Given the description of an element on the screen output the (x, y) to click on. 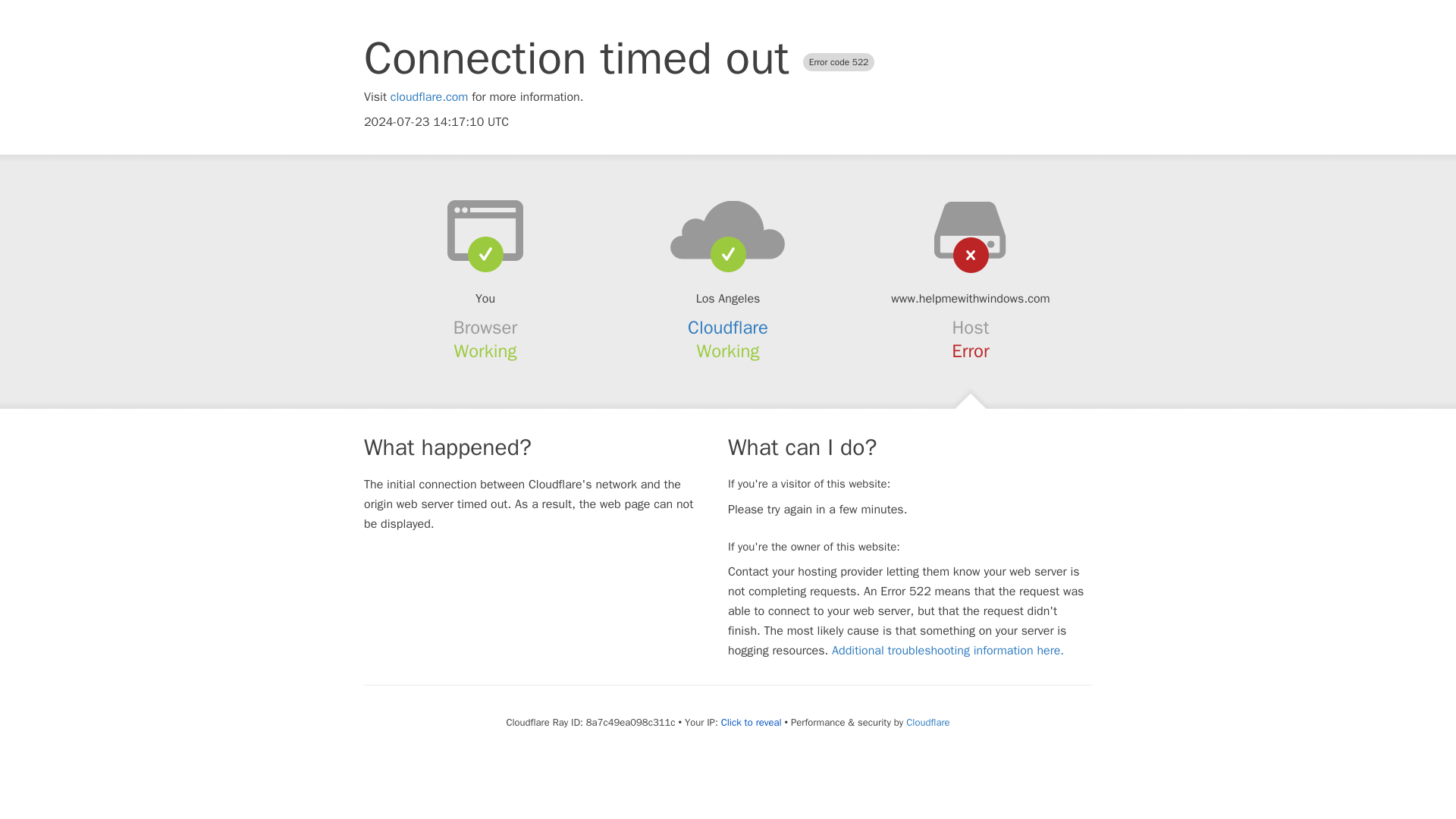
Click to reveal (750, 722)
Cloudflare (727, 327)
cloudflare.com (429, 96)
Additional troubleshooting information here. (947, 650)
Cloudflare (927, 721)
